Given the description of an element on the screen output the (x, y) to click on. 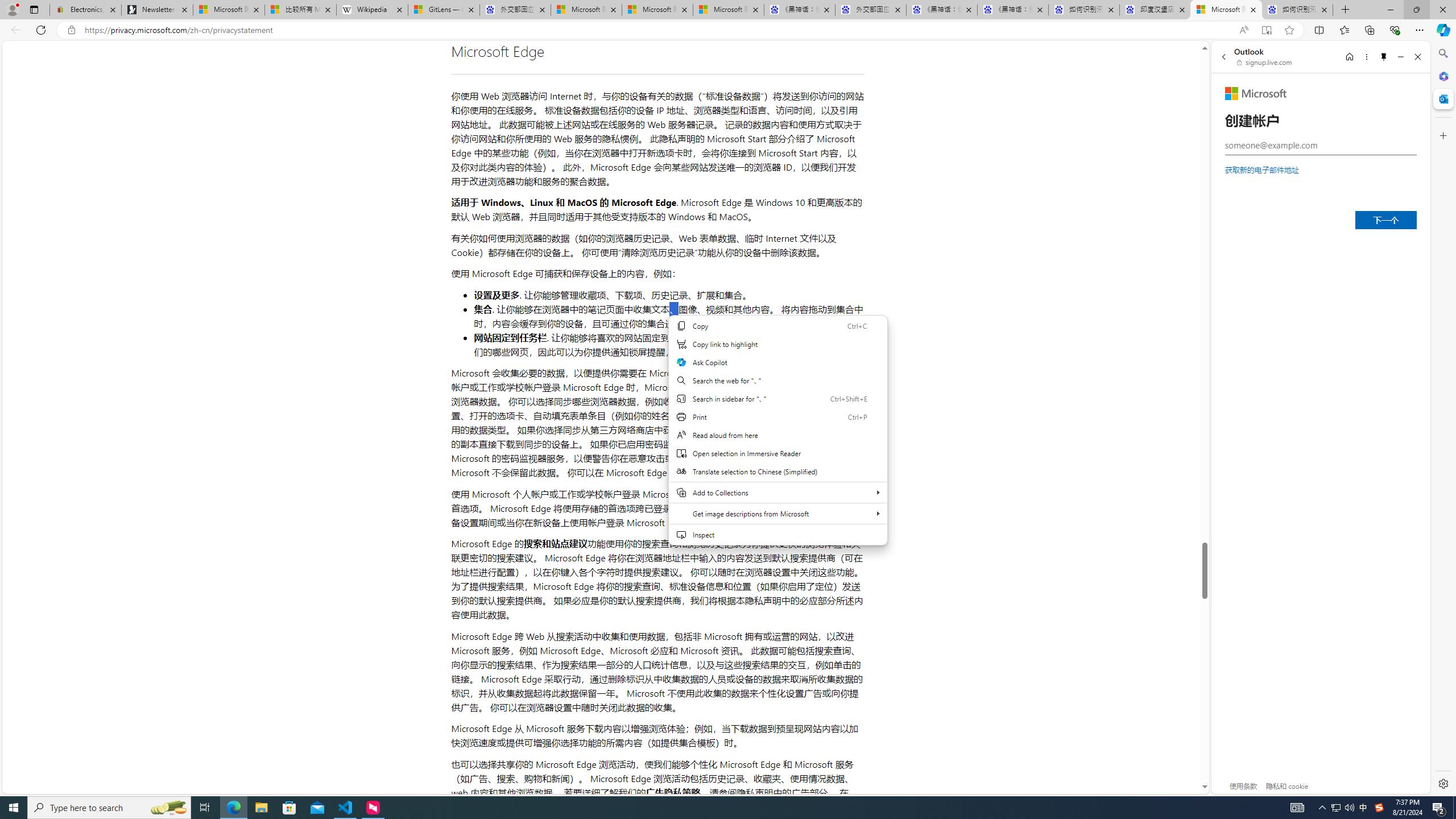
Copy (777, 325)
Web context (778, 437)
Ask Copilot (777, 361)
Add to Collections (777, 492)
Read aloud from here (777, 434)
